Given the description of an element on the screen output the (x, y) to click on. 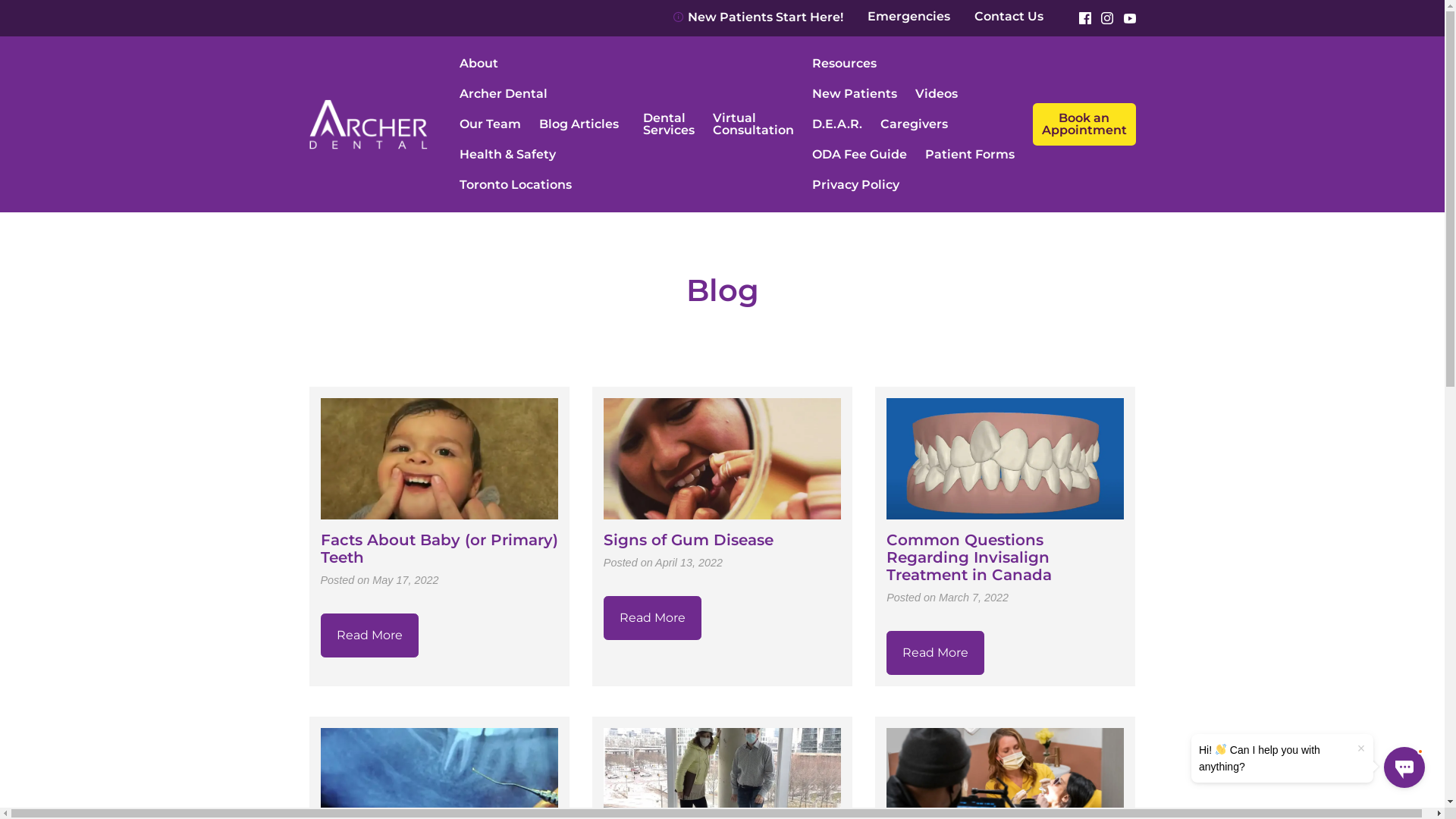
Facts About Baby (or Primary) Teeth
Posted on May 17, 2022 Element type: text (438, 520)
Caregivers Element type: text (914, 124)
Blog Articles Element type: text (578, 124)
Privacy Policy Element type: text (855, 184)
Contact Us Element type: text (1008, 16)
Videos Element type: text (936, 93)
Health & Safety Element type: text (507, 154)
Read More Element type: text (652, 618)
About Element type: text (541, 63)
New Patients Start Here! Element type: text (757, 16)
ODA Fee Guide Element type: text (859, 154)
Emergencies Element type: text (908, 16)
Read More Element type: text (935, 652)
Dental Services Element type: text (668, 124)
Our Team Element type: text (490, 124)
New Patients Element type: text (854, 93)
Virtual Consultation Element type: text (753, 124)
Resources Element type: text (914, 63)
D.E.A.R. Element type: text (837, 124)
Read More Element type: text (368, 635)
Book an Appointment Element type: text (1083, 124)
Archer Dental Element type: text (503, 93)
Signs of Gum Disease
Posted on April 13, 2022 Element type: text (721, 511)
Patient Forms Element type: text (969, 154)
Toronto Locations Element type: text (515, 184)
